Given the description of an element on the screen output the (x, y) to click on. 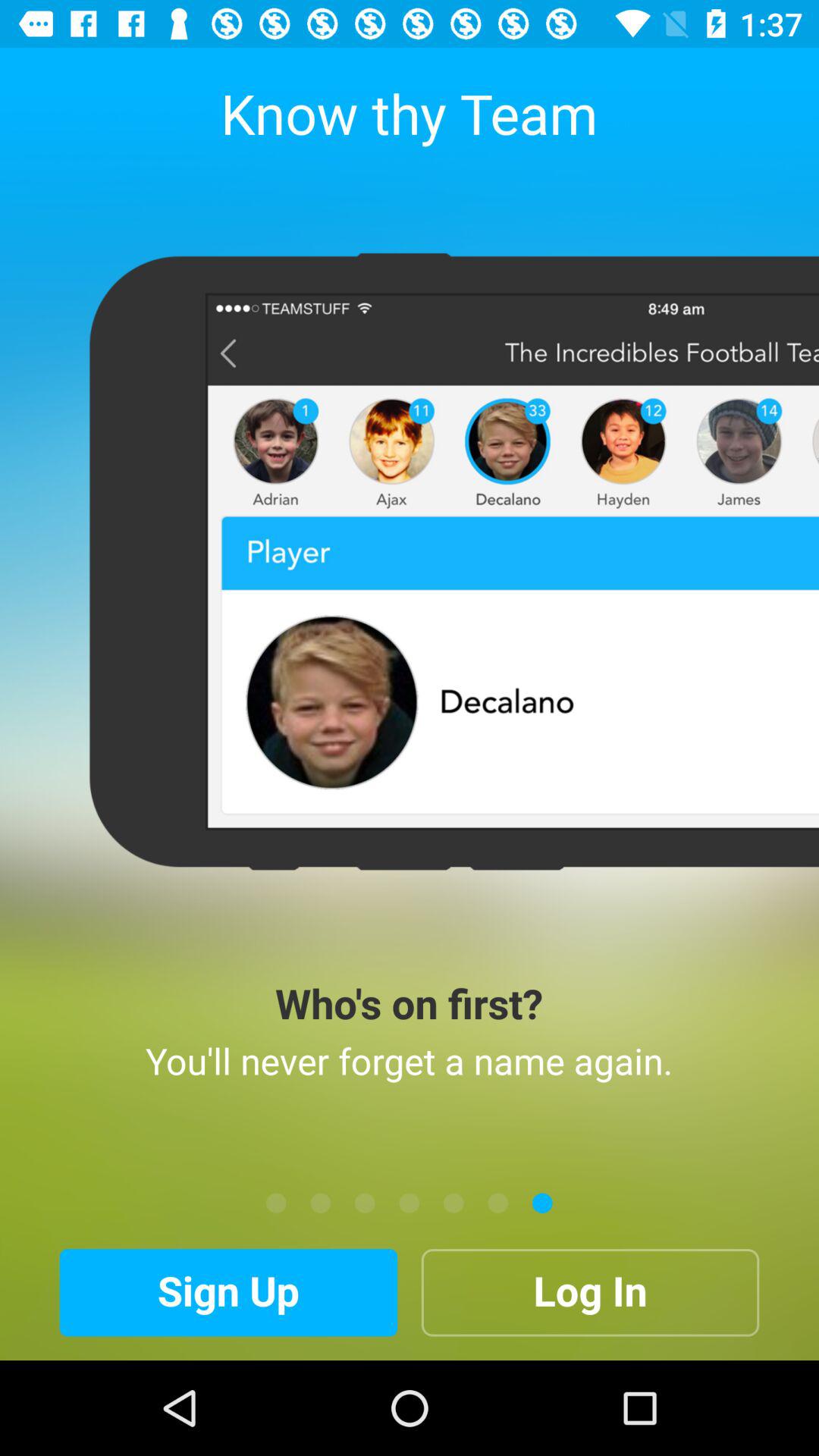
turn on the item below the you ll never (276, 1203)
